Given the description of an element on the screen output the (x, y) to click on. 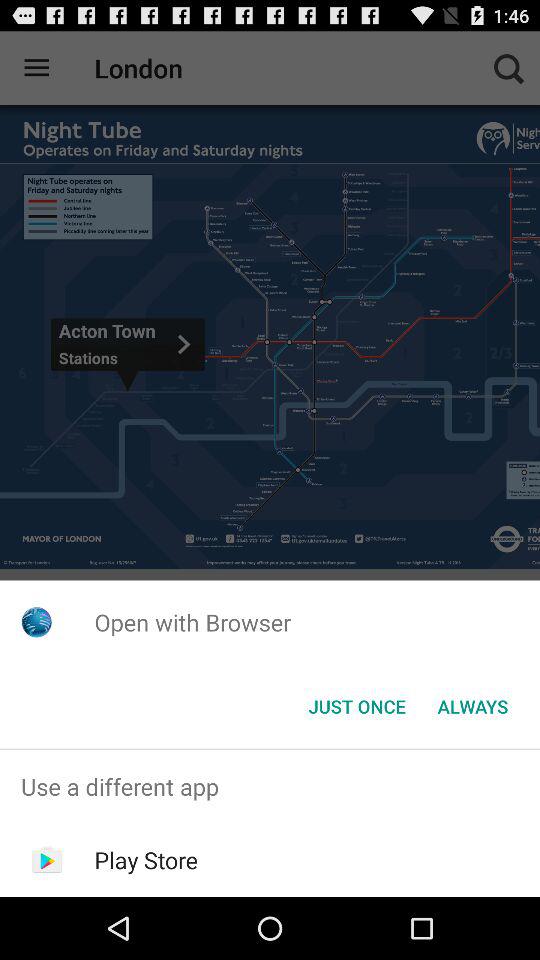
turn off the use a different app (270, 786)
